Given the description of an element on the screen output the (x, y) to click on. 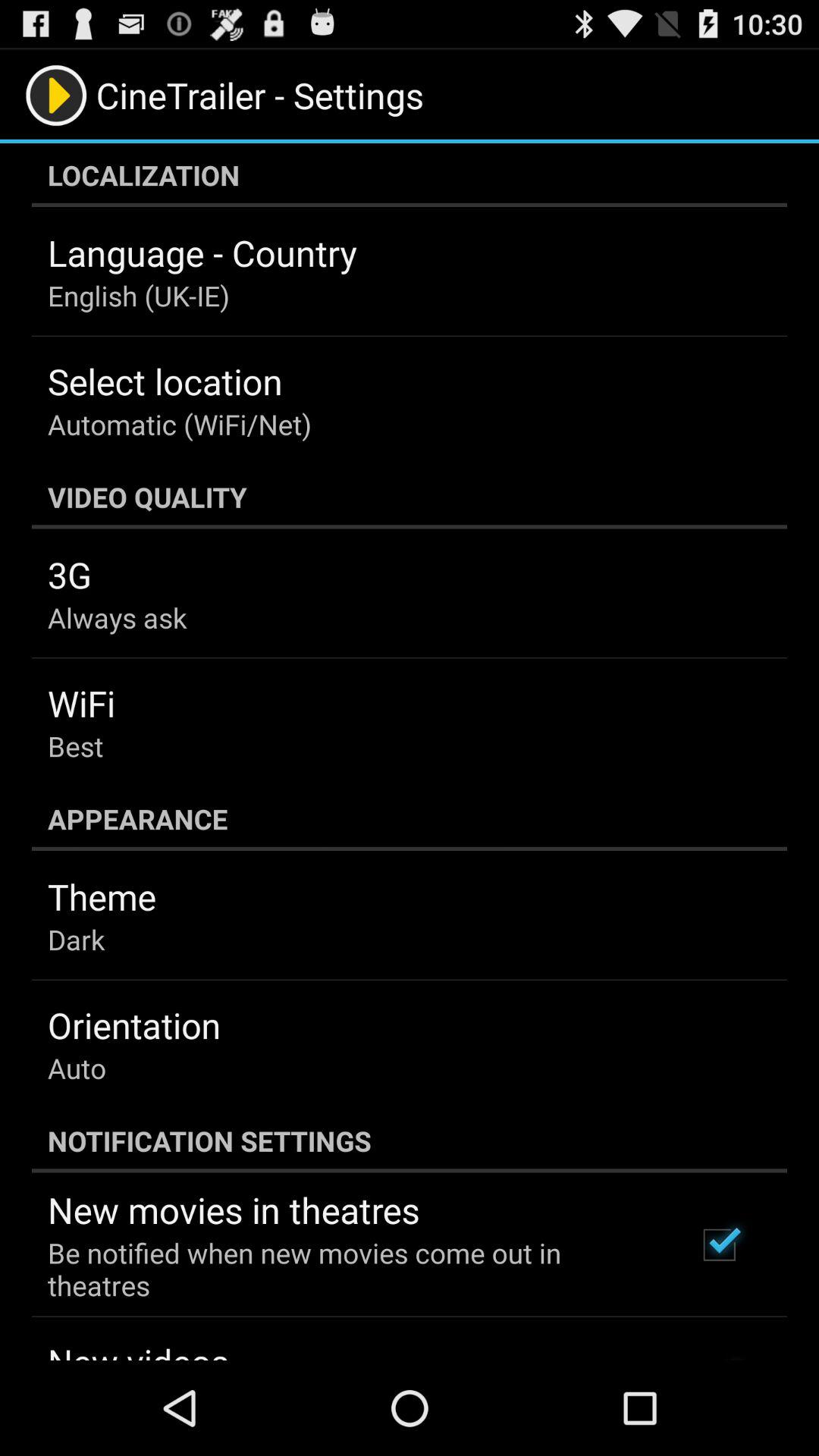
press app below language - country item (138, 295)
